Given the description of an element on the screen output the (x, y) to click on. 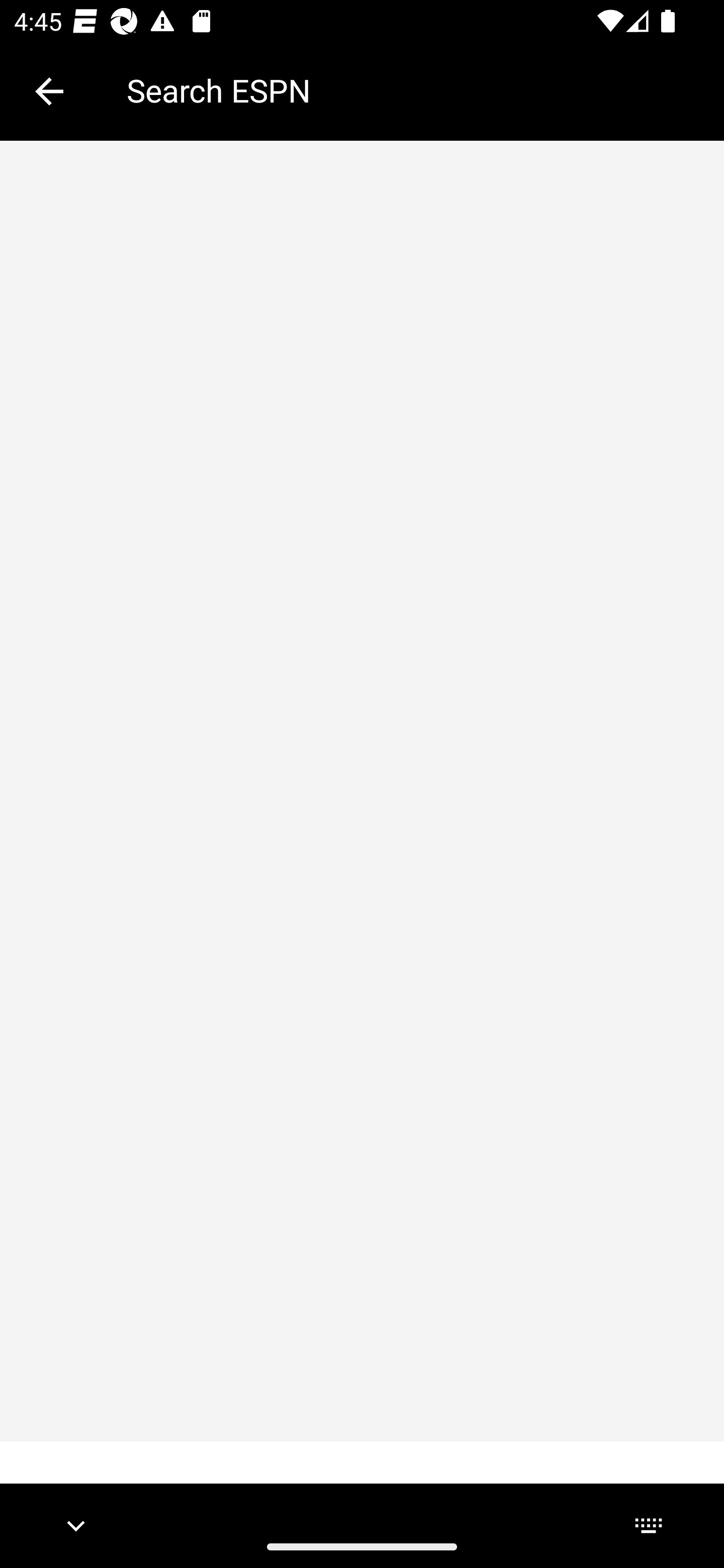
Collapse (49, 91)
Search ESPN (411, 90)
